Given the description of an element on the screen output the (x, y) to click on. 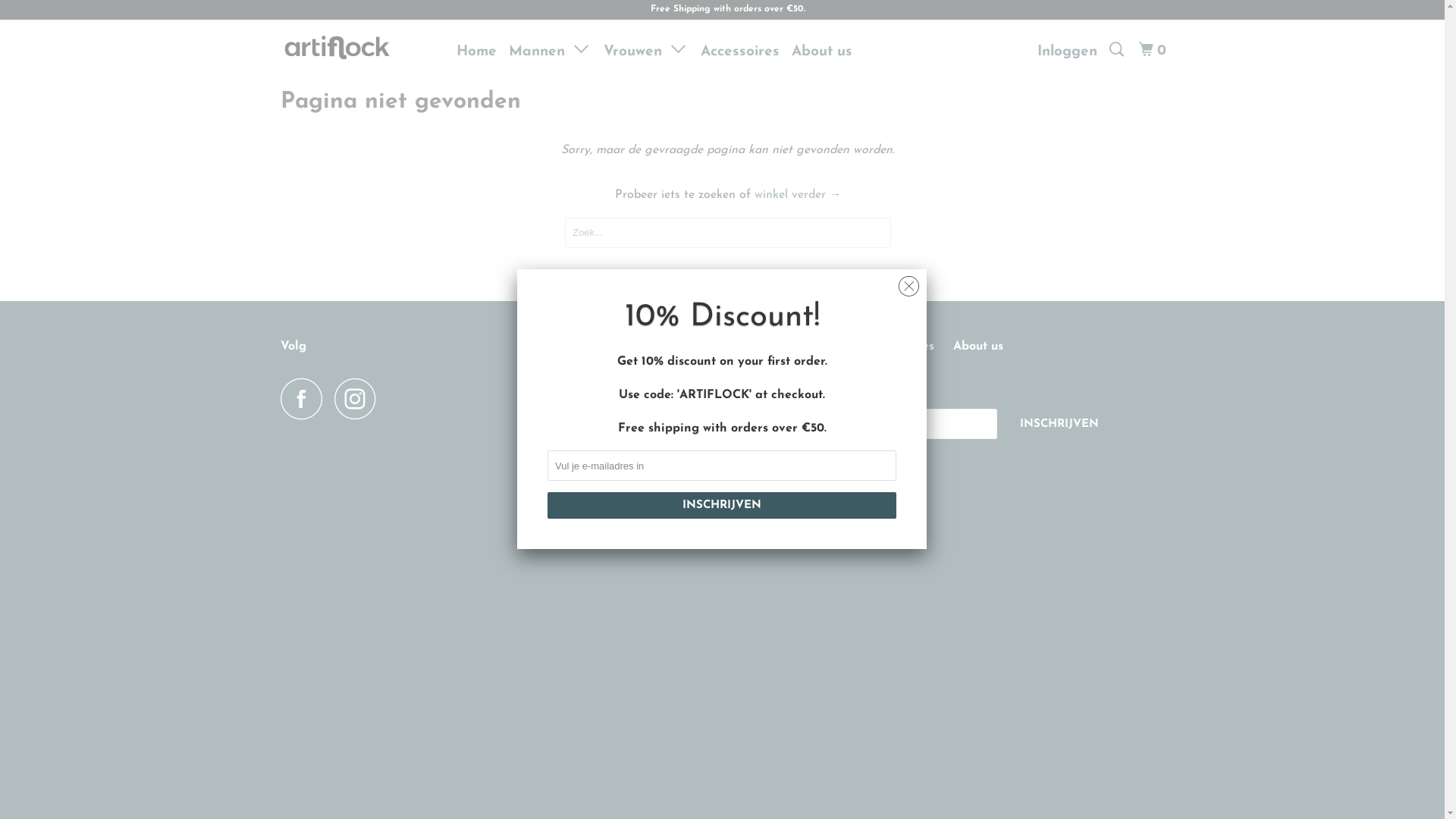
Artiflock Element type: text (738, 459)
Home Element type: text (476, 51)
Inschrijven Element type: text (1058, 424)
Accessoires Element type: text (739, 51)
Mannen Element type: text (755, 346)
Zoek Element type: hover (1117, 50)
About us Element type: text (978, 346)
Artiflock Element type: hover (358, 47)
Accessoires Element type: text (901, 346)
Inloggen Element type: text (1067, 51)
Artiflock on Instagram Element type: hover (359, 398)
Artiflock on Facebook Element type: hover (305, 398)
About us Element type: text (821, 51)
Inschrijven Element type: text (721, 505)
Mannen   Element type: text (549, 50)
Home Element type: text (695, 346)
Vrouwen Element type: text (824, 346)
0 Element type: text (1153, 50)
Close Element type: hover (908, 282)
Vrouwen   Element type: text (645, 50)
